Given the description of an element on the screen output the (x, y) to click on. 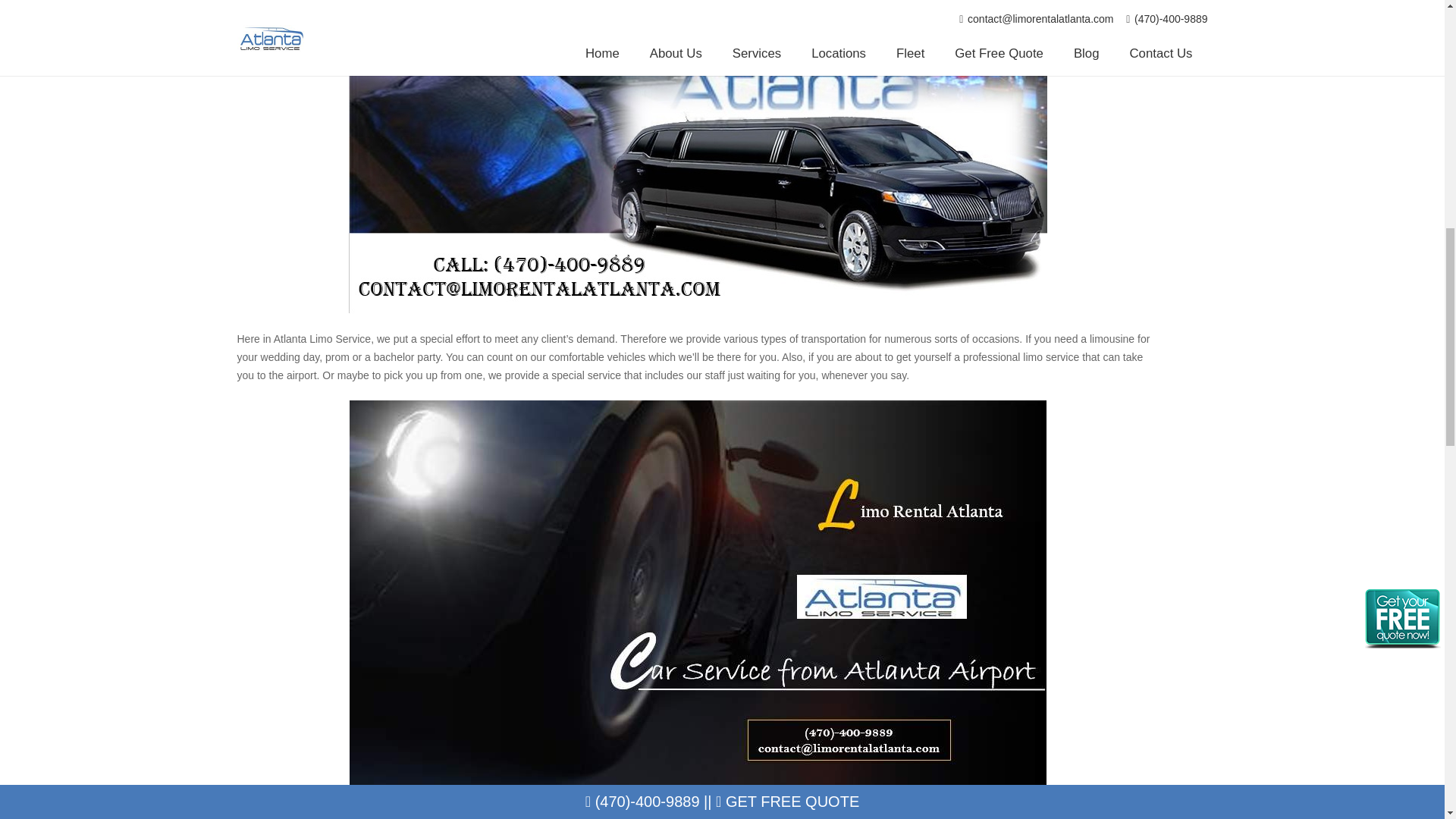
Back to top (1413, 26)
